Given the description of an element on the screen output the (x, y) to click on. 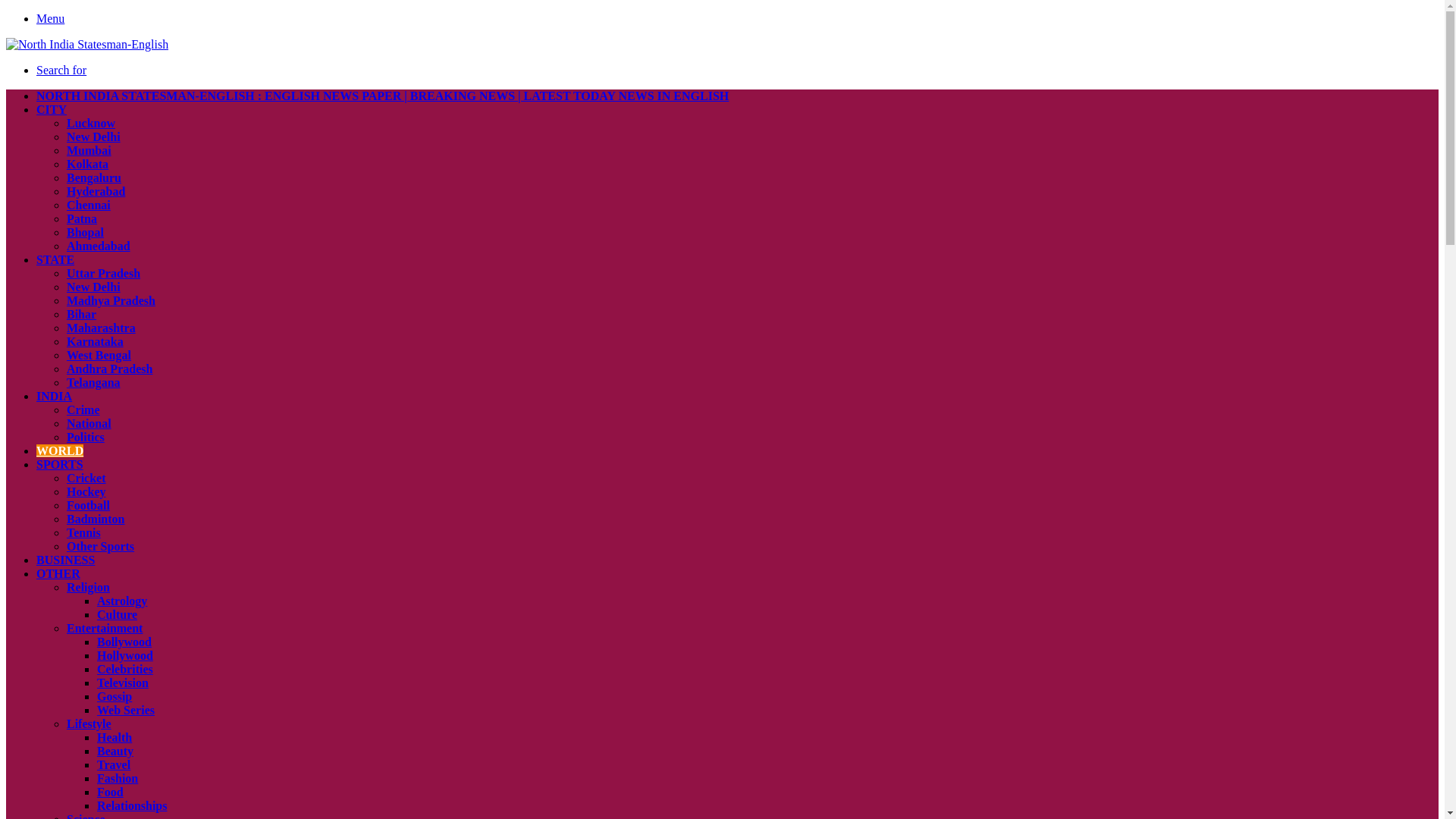
SPORTS (59, 463)
Telangana (93, 382)
Menu (50, 18)
Karnataka (94, 341)
STATE (55, 259)
OTHER (58, 573)
West Bengal (98, 354)
Football (88, 504)
Kolkata (86, 164)
Politics (85, 436)
Hyderabad (95, 191)
Badminton (94, 518)
Maharashtra (100, 327)
BUSINESS (65, 559)
Mumbai (89, 150)
